Given the description of an element on the screen output the (x, y) to click on. 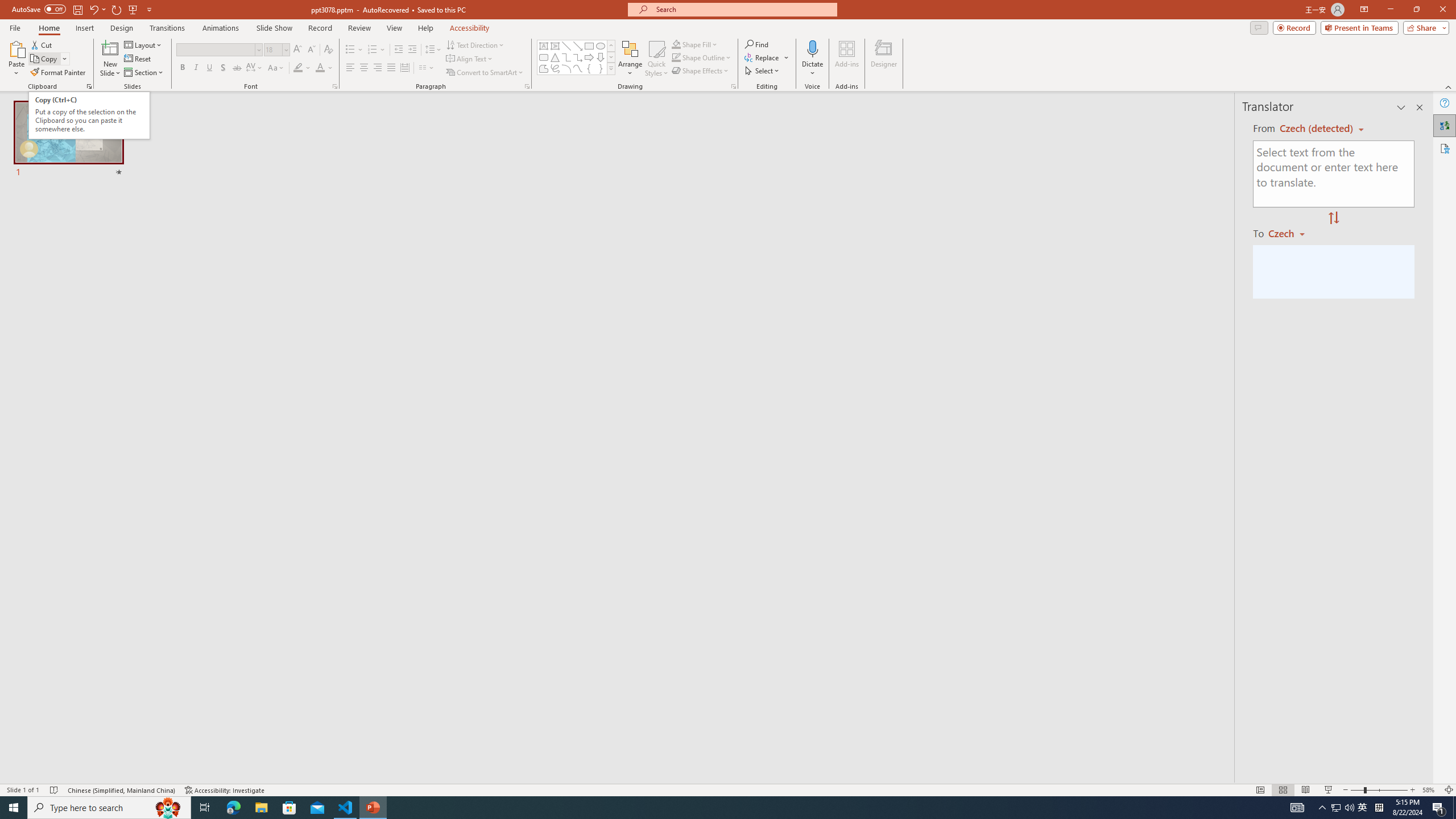
Rectangle (589, 45)
Shape Fill (694, 44)
Redo (117, 9)
Czech (detected) (1317, 128)
Close pane (1419, 107)
Distributed (404, 67)
Font... (334, 85)
Bold (182, 67)
Text Highlight Color Yellow (297, 67)
View (395, 28)
Font (219, 49)
Copy (45, 58)
